Given the description of an element on the screen output the (x, y) to click on. 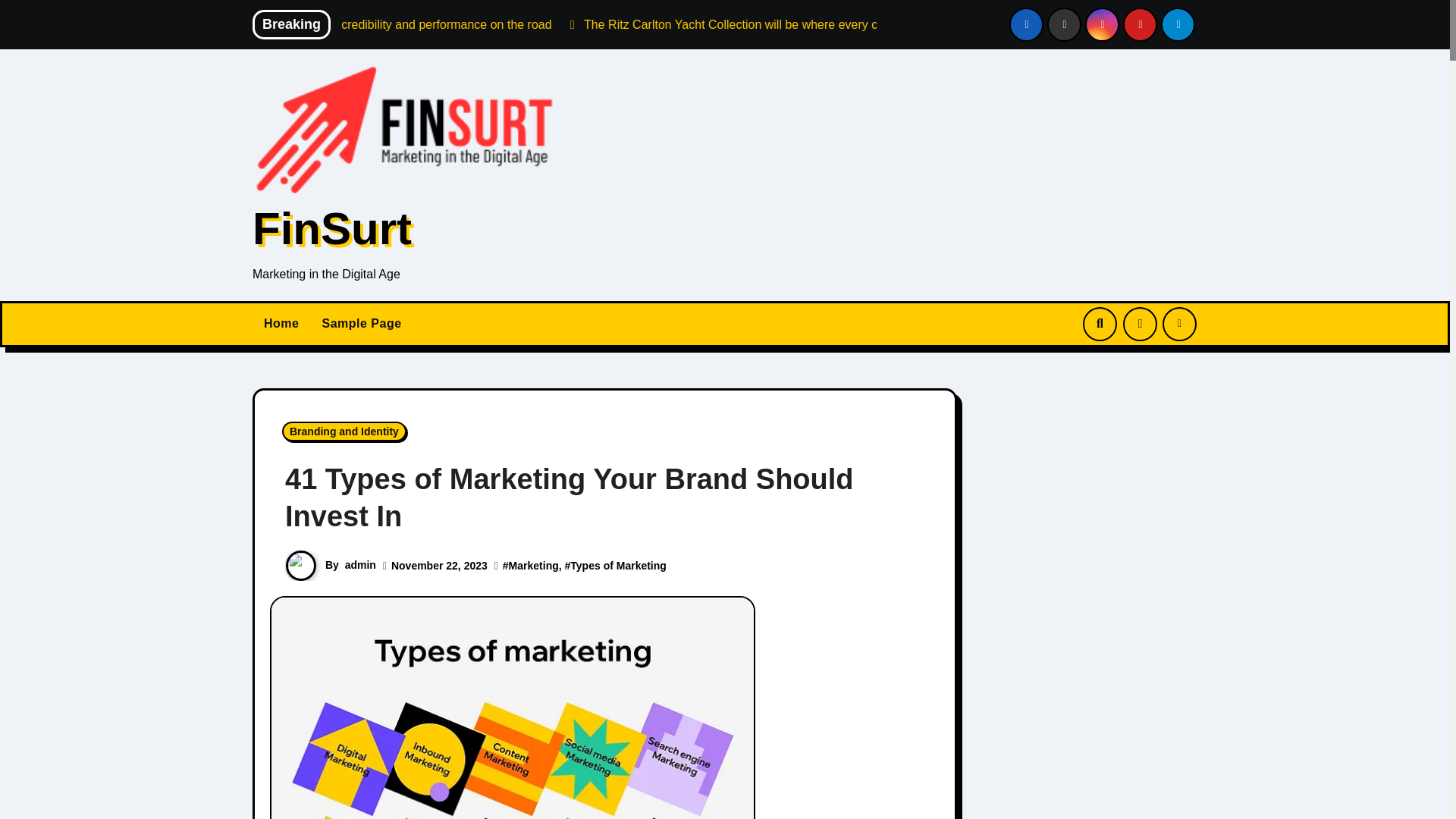
admin (360, 564)
Marketing (533, 565)
Home (280, 323)
Types of Marketing (618, 565)
Home (280, 323)
FinSurt (331, 228)
Branding and Identity (344, 431)
Sample Page (361, 323)
November 22, 2023 (439, 565)
